Given the description of an element on the screen output the (x, y) to click on. 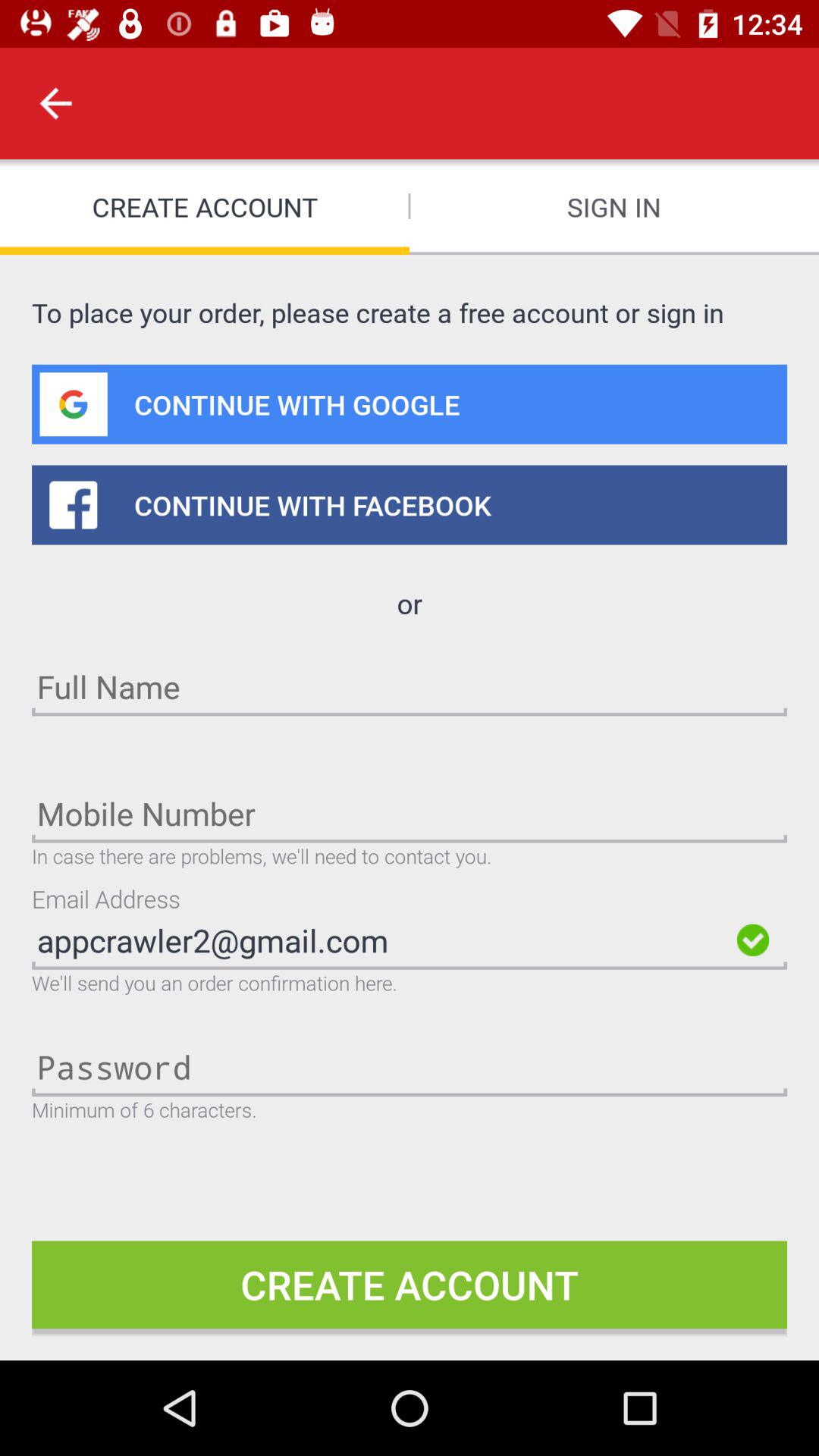
enter password in this field (409, 1066)
